Given the description of an element on the screen output the (x, y) to click on. 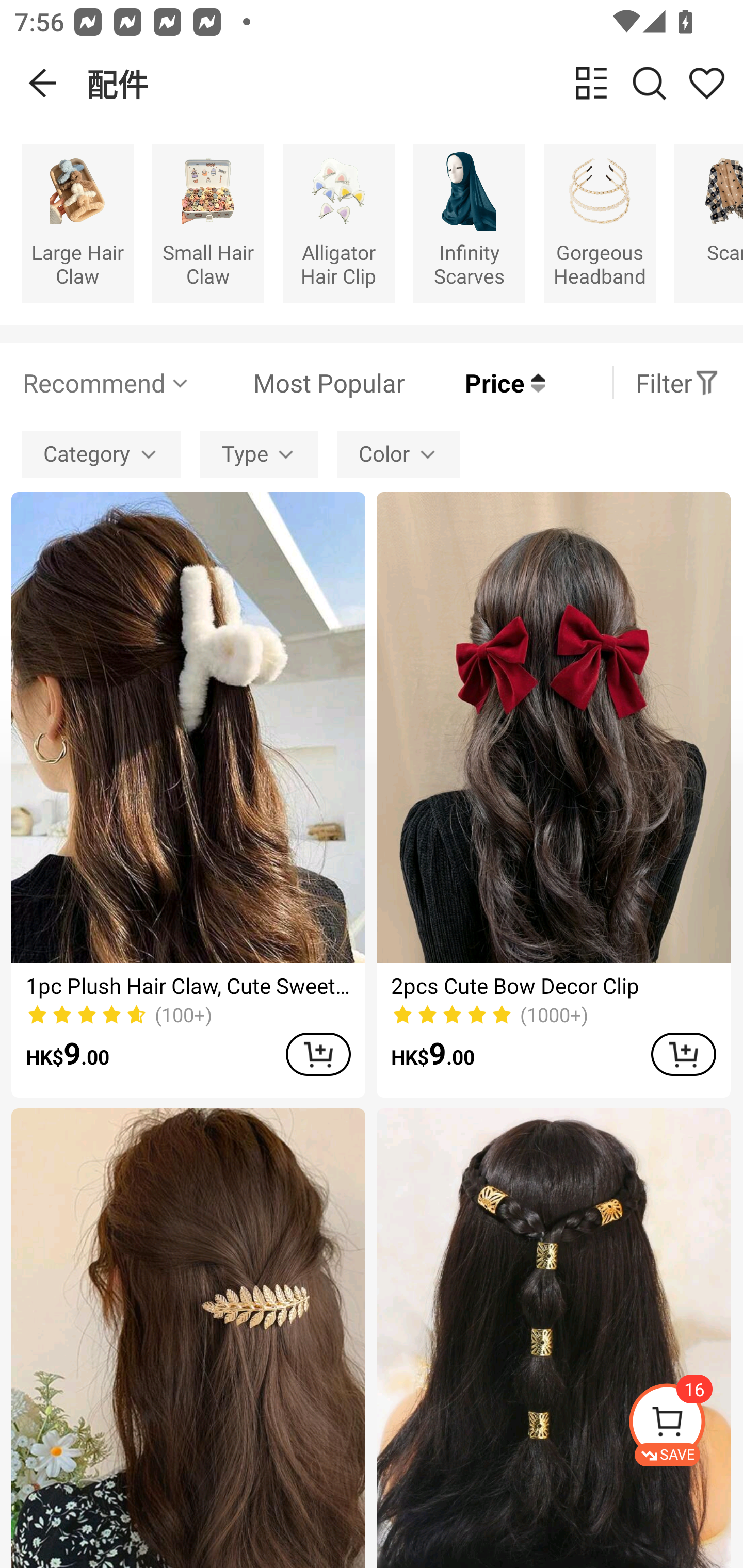
配件 change view Search Share (414, 82)
change view (591, 82)
Search (648, 82)
Share (706, 82)
Large Hair Claw (77, 223)
Small Hair Claw (208, 223)
Alligator Hair Clip (338, 223)
Infinity Scarves (469, 223)
Gorgeous Headband (599, 223)
Scarf (708, 223)
Recommend (106, 382)
Most Popular (297, 382)
Price (474, 382)
Filter (677, 382)
Category (101, 454)
Type (258, 454)
Color (397, 454)
ADD TO CART (318, 1054)
ADD TO CART (683, 1054)
5pcs Textured Metal Boho Vintage Hair Ring (553, 1338)
SAVE (685, 1424)
